Given the description of an element on the screen output the (x, y) to click on. 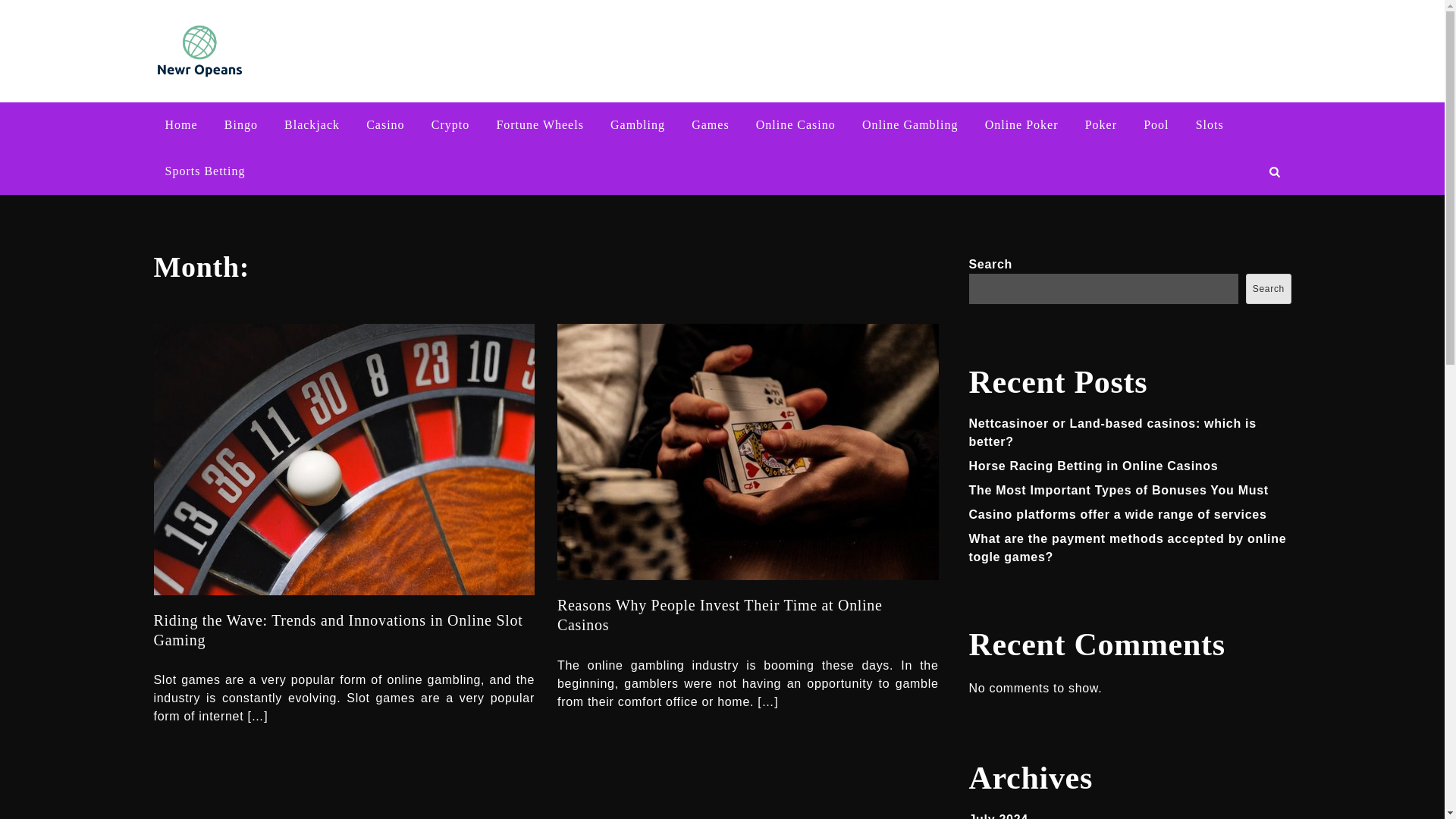
Sports Betting (204, 171)
Nettcasinoer or Land-based casinos: which is better? (1112, 431)
Fortune Wheels (539, 125)
Casino (384, 125)
What are the payment methods accepted by online togle games? (1128, 547)
Casino platforms offer a wide range of services (1117, 513)
The Most Important Types of Bonuses You Must (1118, 490)
Crypto (450, 125)
Pool (1155, 125)
Newropeans (317, 60)
Bingo (240, 125)
Blackjack (311, 125)
July 2024 (998, 816)
Poker (1101, 125)
Search (1268, 288)
